Given the description of an element on the screen output the (x, y) to click on. 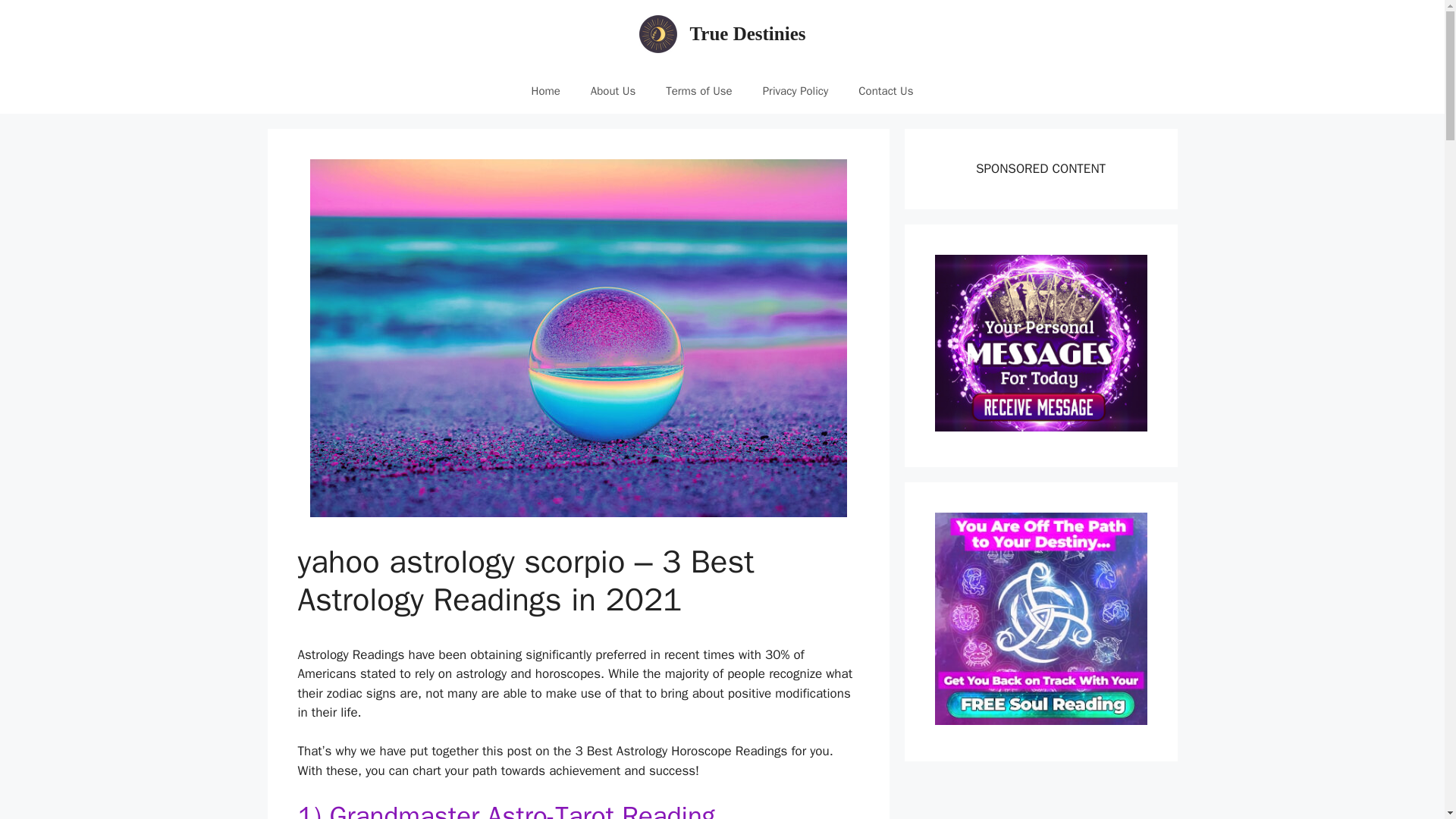
True Destinies (748, 33)
Home (545, 90)
Terms of Use (699, 90)
About Us (612, 90)
Privacy Policy (796, 90)
Contact Us (885, 90)
